Given the description of an element on the screen output the (x, y) to click on. 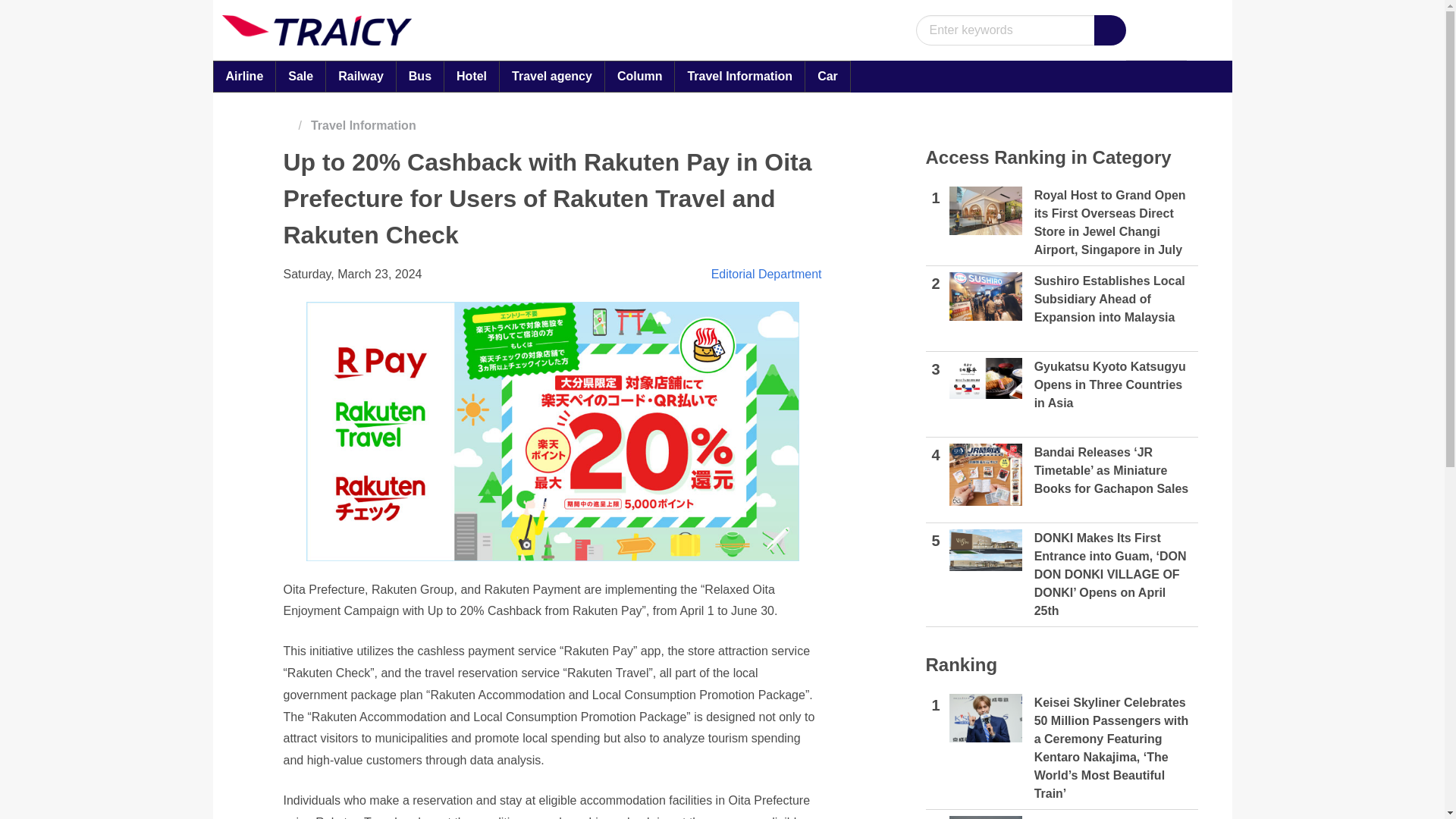
Railway (360, 76)
Posts by Editorial Department (766, 273)
Bus (420, 76)
Sale (300, 76)
Editorial Department (766, 273)
Travel Information (368, 126)
Travel Information (739, 76)
JAL and ENEOS Enter into a Purchase Agreement for SAF (985, 817)
Hotel (471, 76)
Travel agency (552, 76)
Car (827, 76)
